Given the description of an element on the screen output the (x, y) to click on. 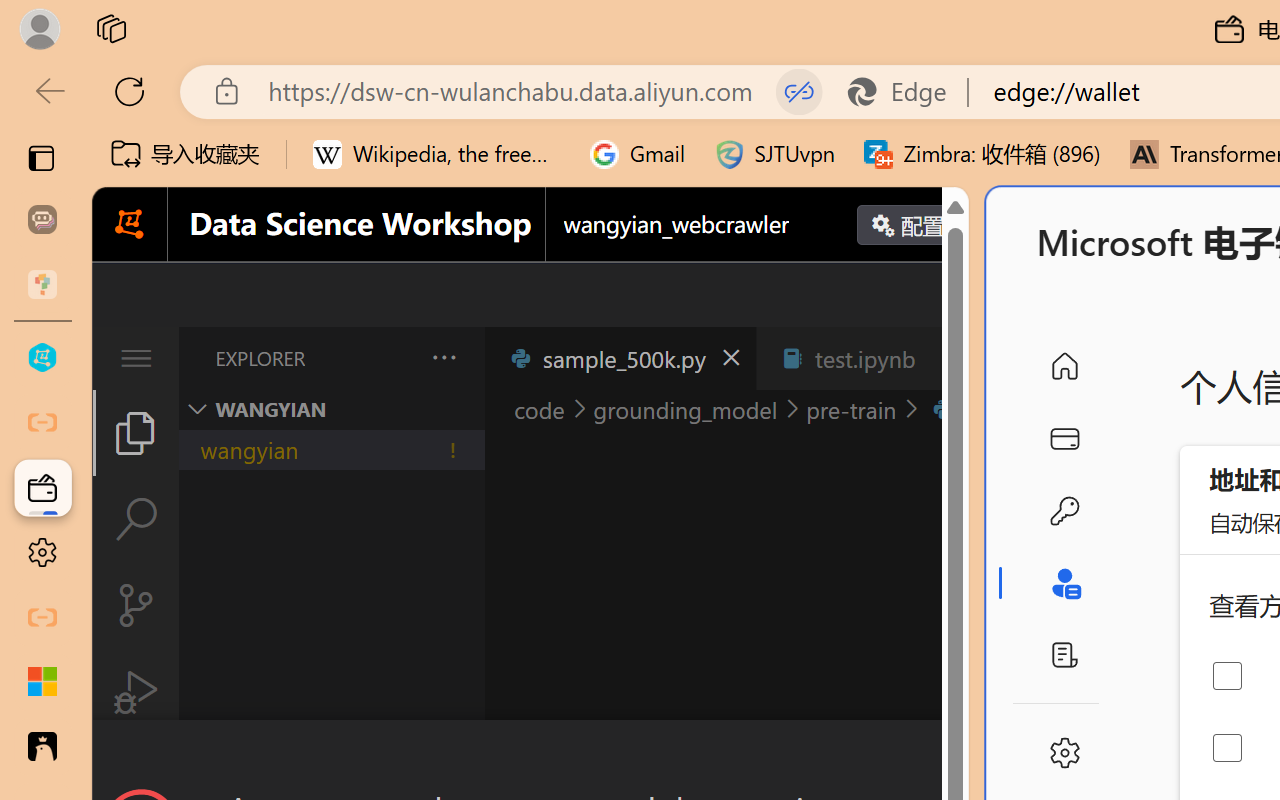
Wikipedia, the free encyclopedia (437, 154)
Explorer Section: wangyian (331, 409)
Explorer (Ctrl+Shift+E) (135, 432)
Close (Ctrl+F4) (946, 358)
Run and Debug (Ctrl+Shift+D) (135, 692)
SJTUvpn (774, 154)
Views and More Actions... (442, 357)
